Given the description of an element on the screen output the (x, y) to click on. 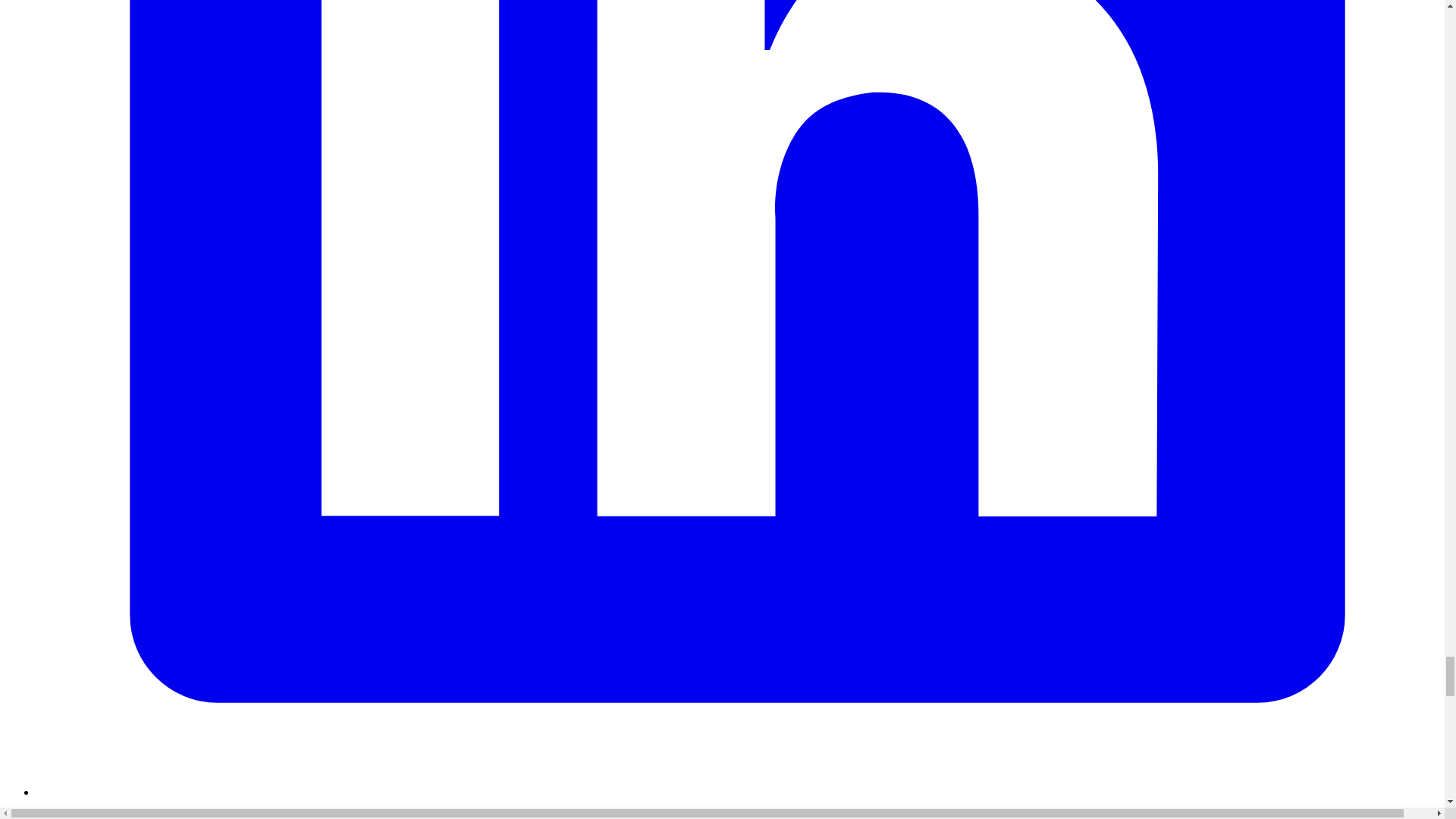
InstagramLogo (737, 809)
